Given the description of an element on the screen output the (x, y) to click on. 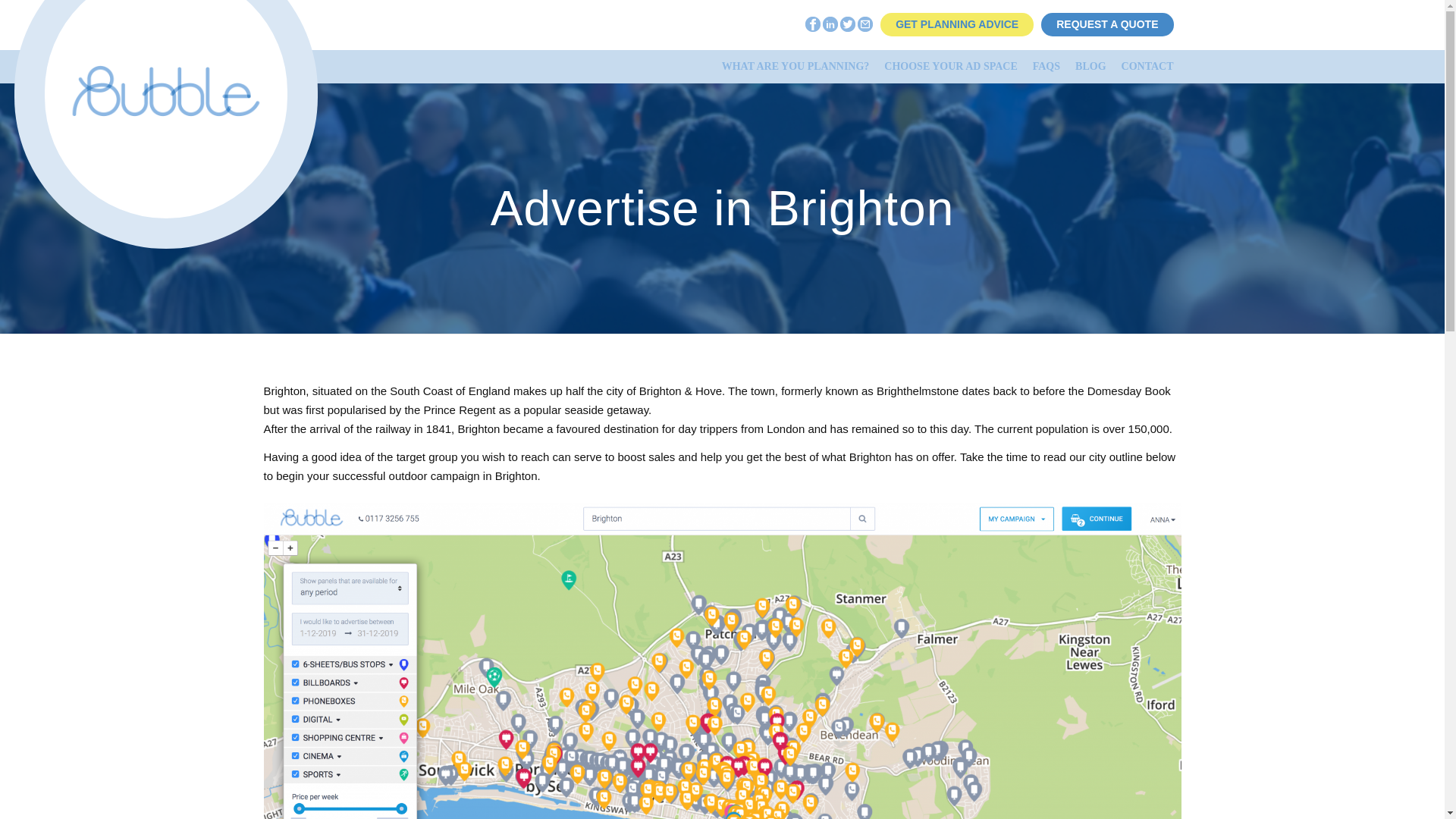
CHOOSE YOUR AD SPACE (950, 66)
REQUEST A QUOTE (1107, 24)
FAQS (1046, 66)
WHAT ARE YOU PLANNING? (795, 66)
GET PLANNING ADVICE (956, 24)
BLOG (1090, 66)
CONTACT (1146, 66)
